Given the description of an element on the screen output the (x, y) to click on. 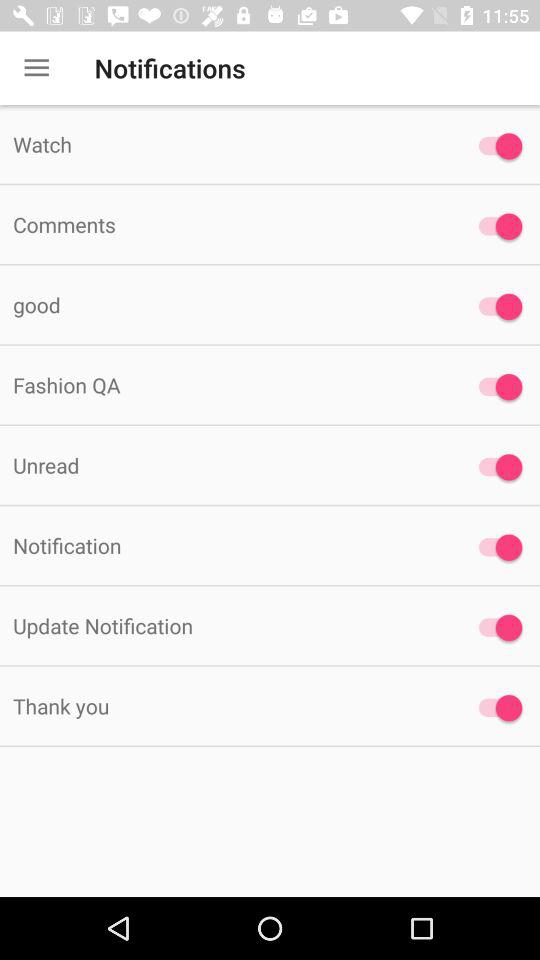
toggle comments on/off (495, 226)
